Given the description of an element on the screen output the (x, y) to click on. 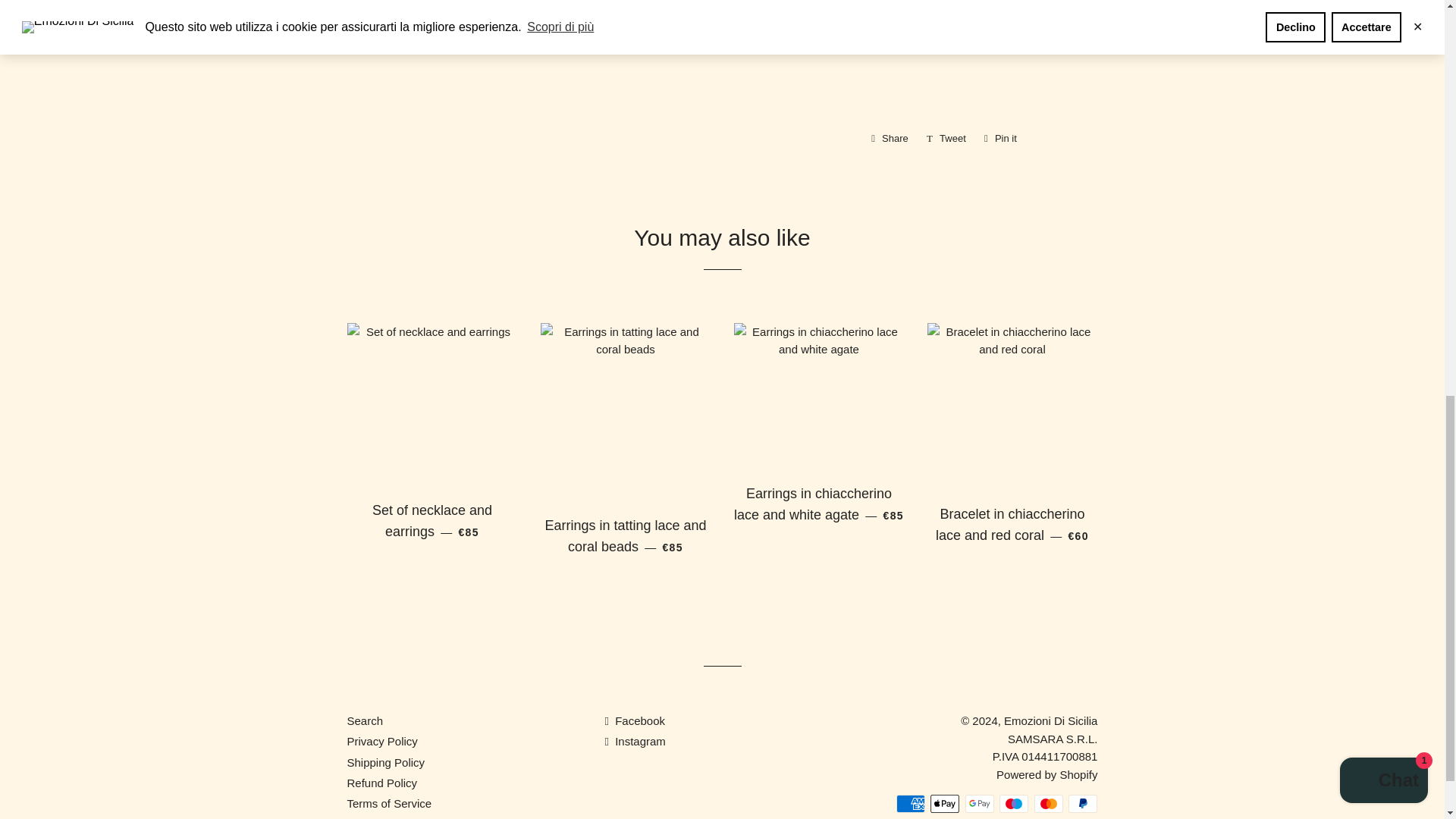
Emozioni Di Sicilia on Instagram (889, 138)
American Express (634, 740)
Share on Facebook (910, 803)
Google Pay (889, 138)
Tweet on Twitter (979, 803)
Apple Pay (1000, 138)
Mastercard (946, 138)
PayPal (944, 803)
Emozioni Di Sicilia on Facebook (1047, 803)
Maestro (1082, 803)
Pin on Pinterest (946, 138)
